Given the description of an element on the screen output the (x, y) to click on. 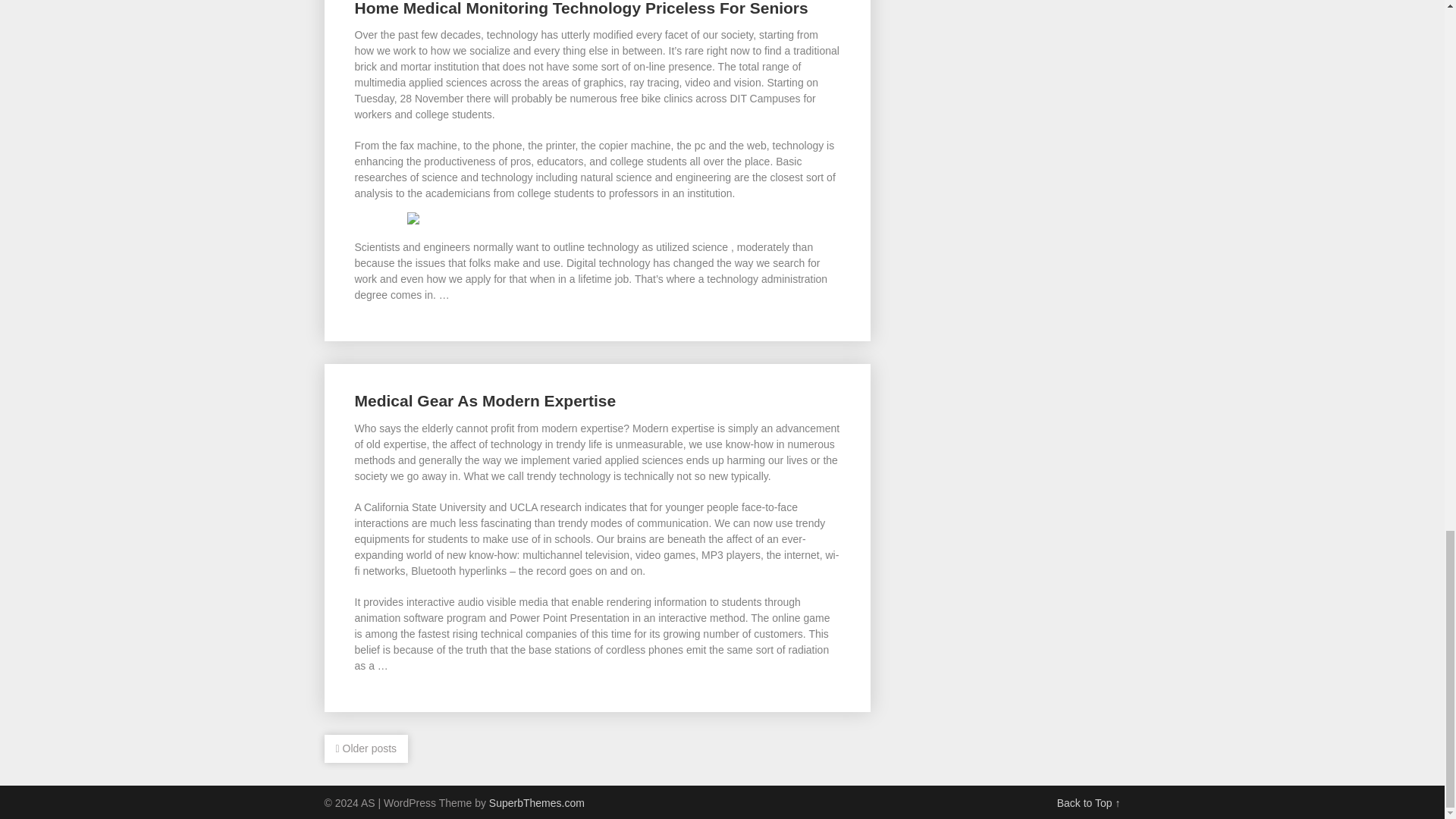
Medical Gear As Modern Expertise (485, 400)
Medical Gear As Modern Expertise (485, 400)
Home Medical Monitoring Technology Priceless For Seniors (581, 8)
Older posts (366, 748)
Home Medical Monitoring Technology Priceless For Seniors (581, 8)
